Given the description of an element on the screen output the (x, y) to click on. 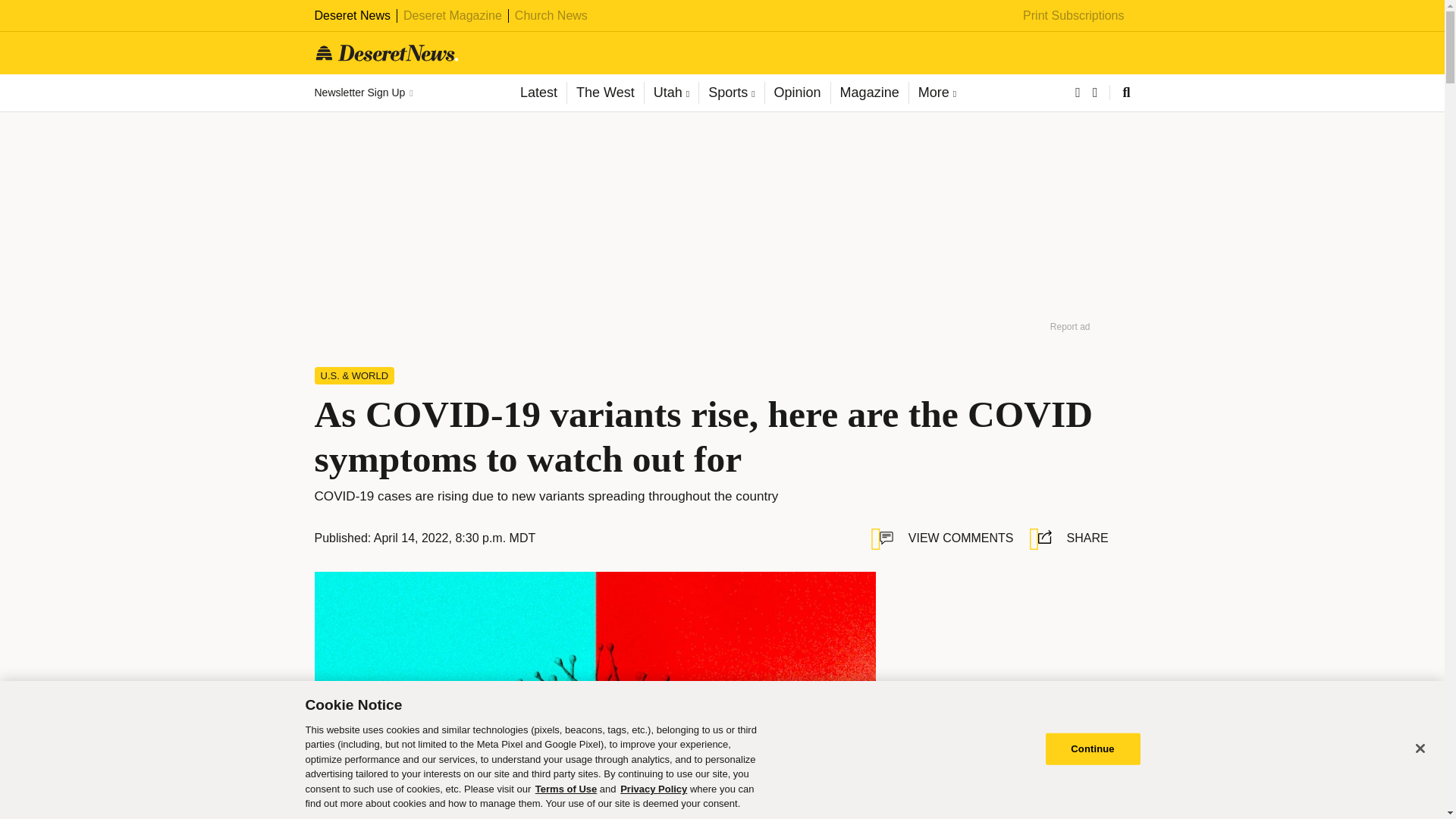
Print Subscriptions (1073, 15)
Opinion (796, 92)
Report ad (1069, 326)
Sports (730, 92)
Deseret Magazine (452, 15)
Magazine (868, 92)
Newsletter Sign Up (363, 92)
Utah (670, 92)
Deseret News (352, 15)
The West (604, 92)
Church News (551, 15)
3rd party ad content (1008, 666)
Latest (538, 92)
